Given the description of an element on the screen output the (x, y) to click on. 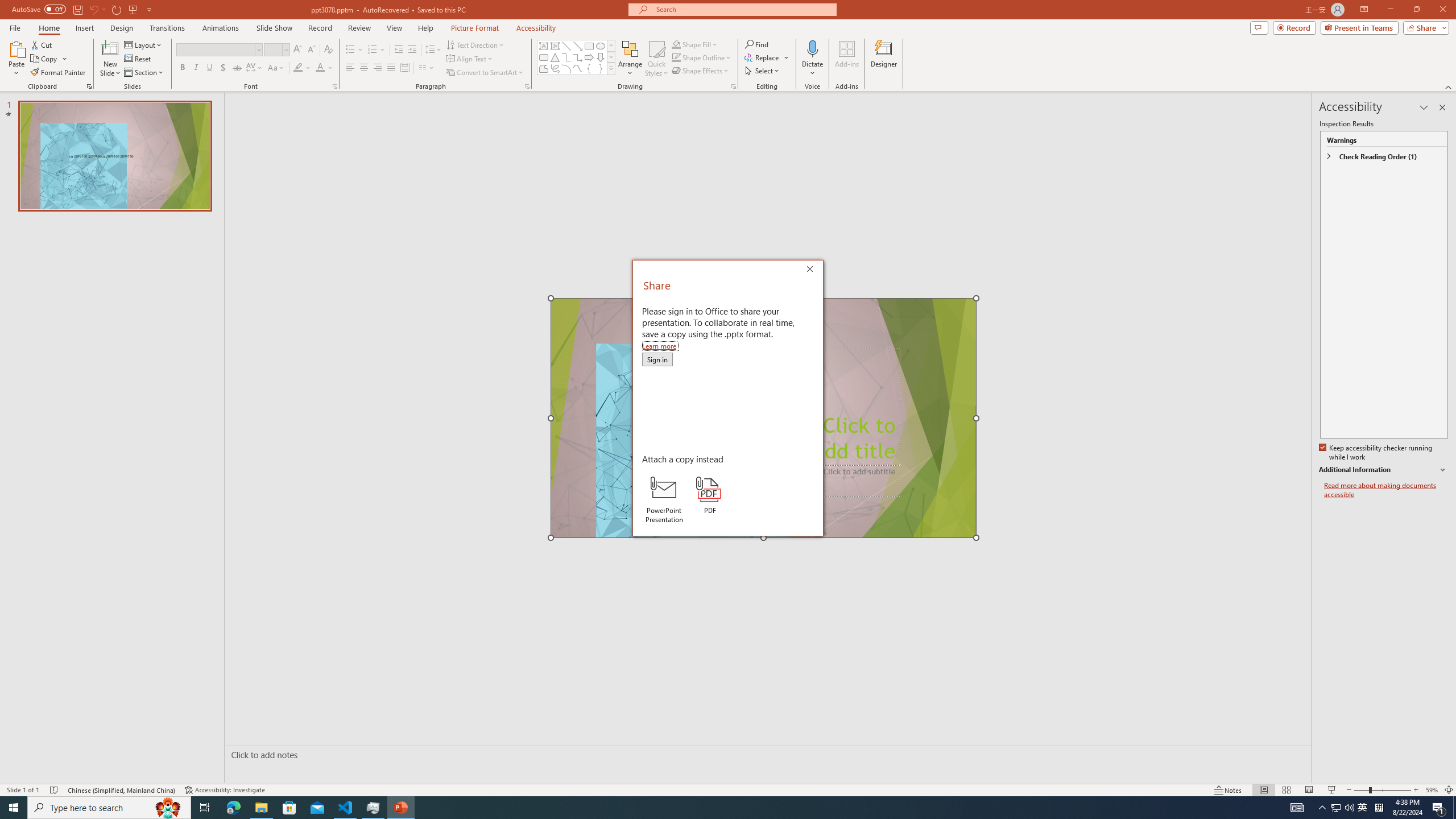
Microsoft Edge (233, 807)
PDF (709, 495)
